Given the description of an element on the screen output the (x, y) to click on. 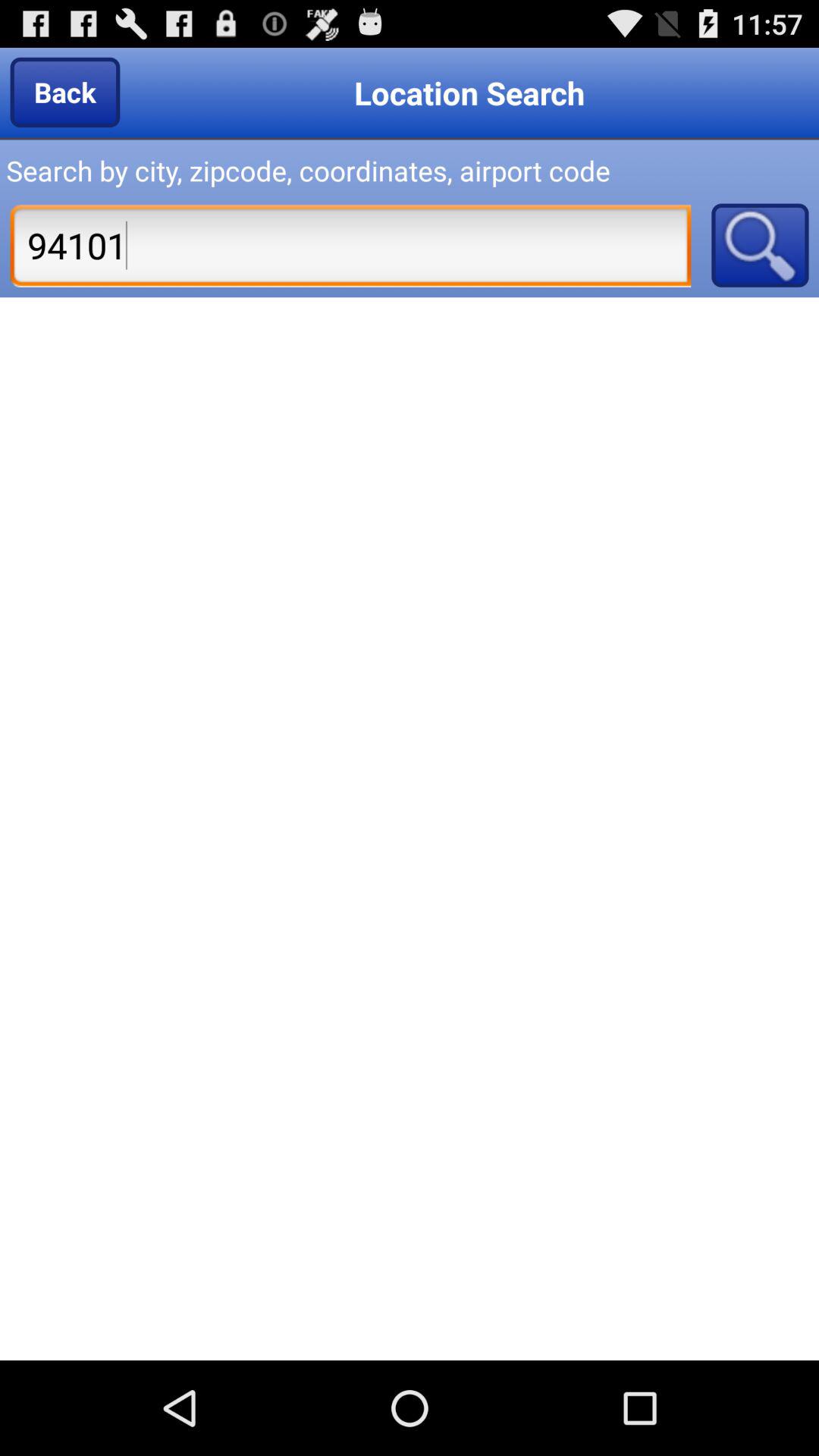
jump to the 94101 icon (350, 245)
